Given the description of an element on the screen output the (x, y) to click on. 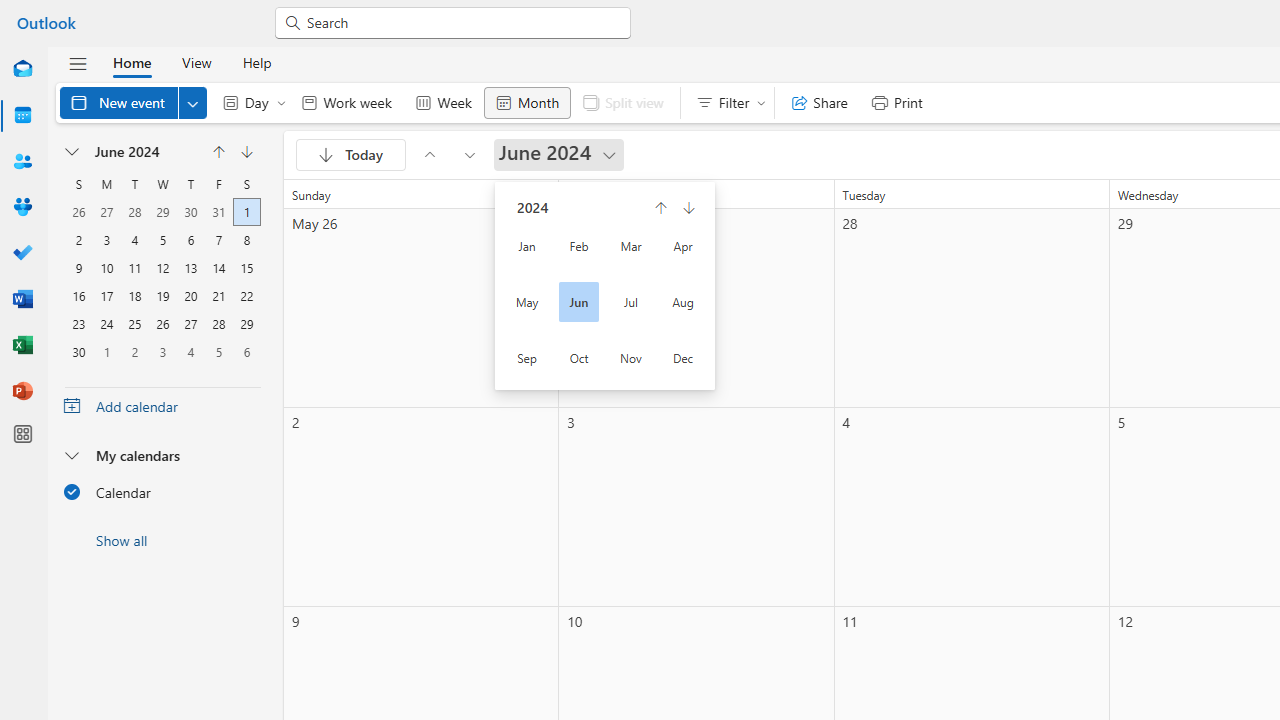
9, June, 2024 (78, 266)
11, June, 2024 (134, 266)
Search (461, 21)
19, June, 2024 (162, 294)
10, June, 2024 (106, 266)
Expand to see more New options (192, 102)
21, June, 2024 (218, 294)
More apps (22, 434)
Wednesday (162, 183)
6, July, 2024 (246, 349)
Groups (22, 207)
Share (819, 102)
Go to previous month May 2024 (429, 154)
14, June, 2024 (218, 266)
